Given the description of an element on the screen output the (x, y) to click on. 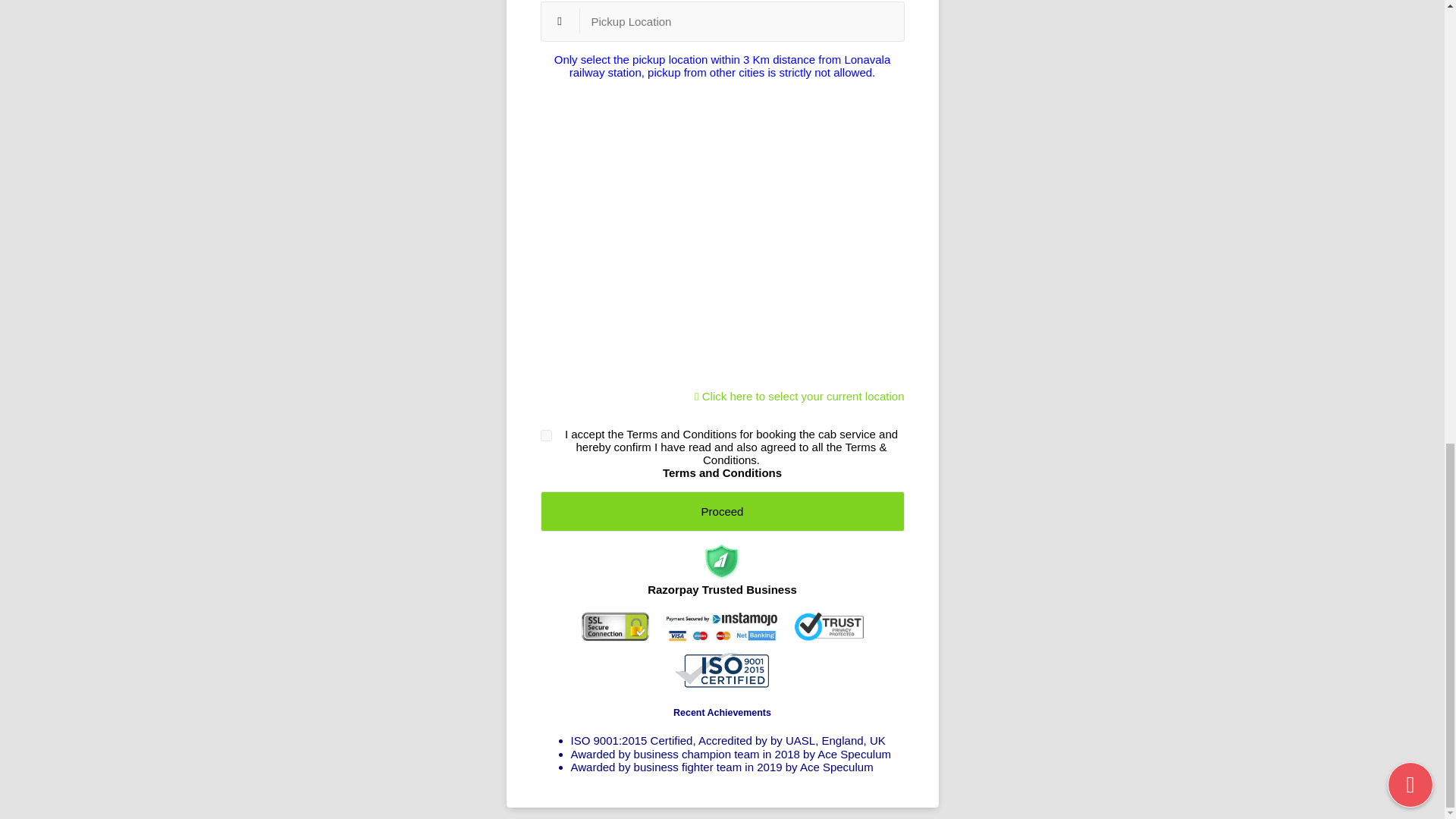
Proceed (722, 511)
